Given the description of an element on the screen output the (x, y) to click on. 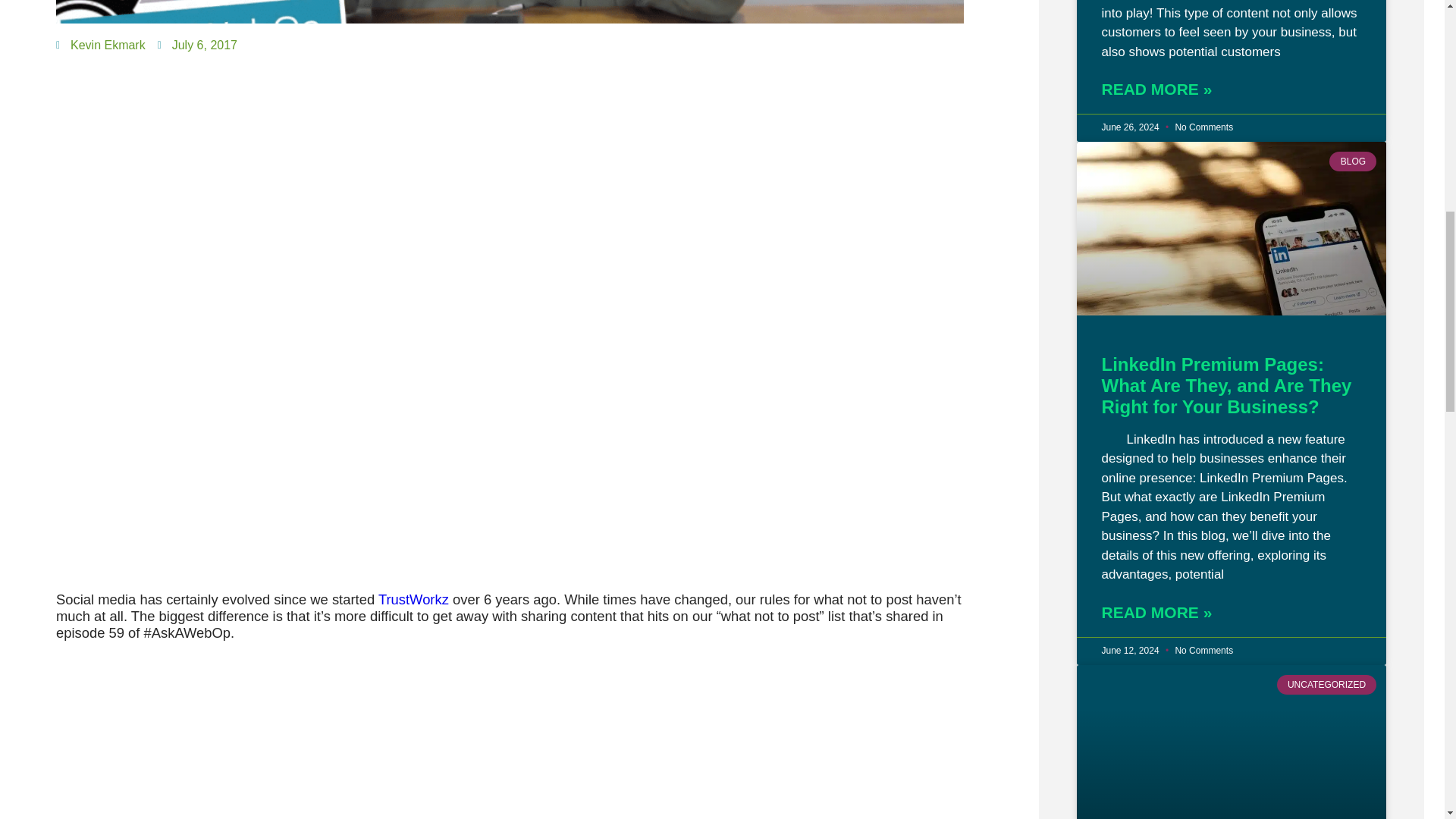
Kevin Ekmark (100, 45)
TrustWorkz (413, 599)
July 6, 2017 (197, 45)
